Given the description of an element on the screen output the (x, y) to click on. 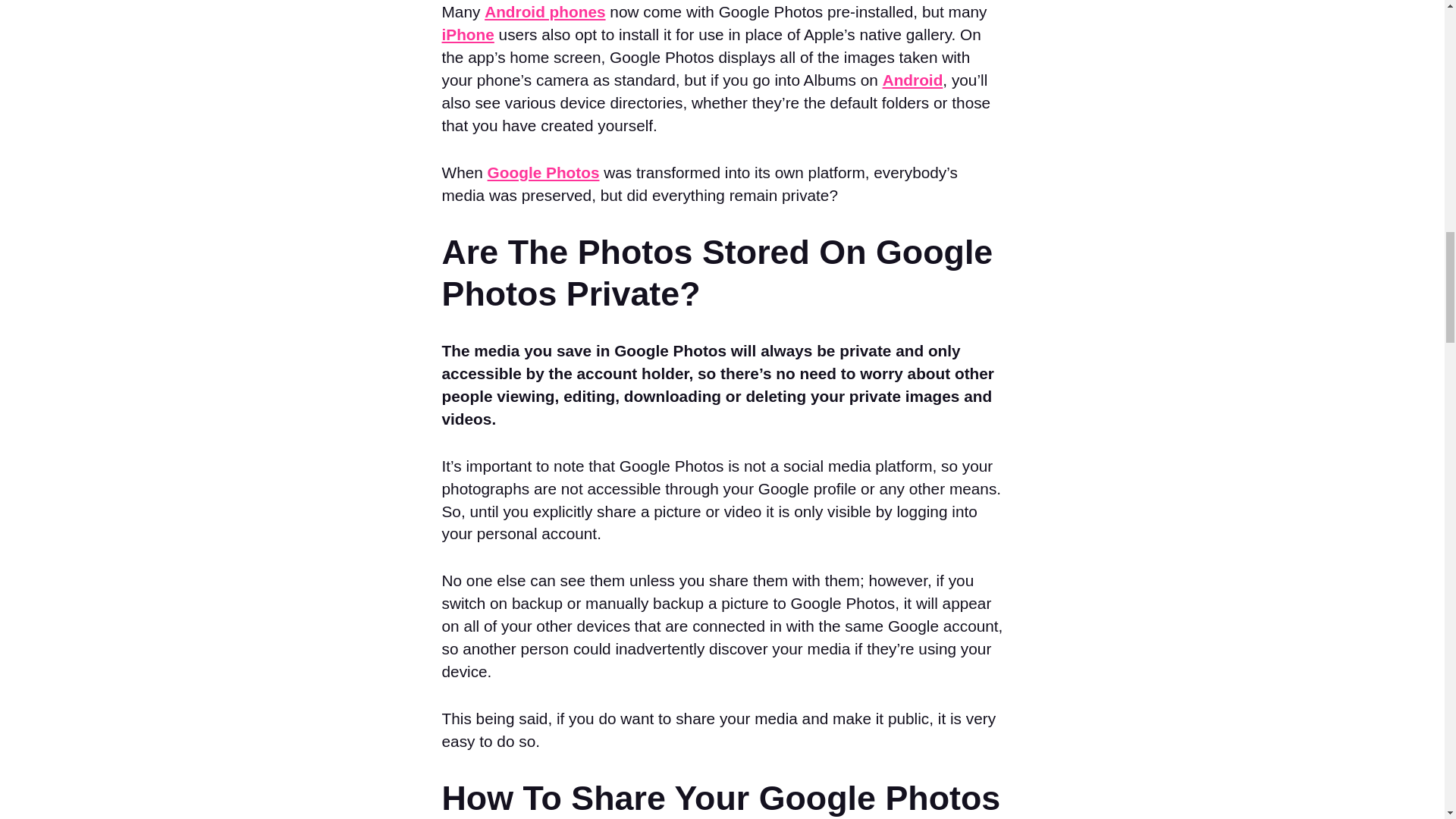
Google Photos (543, 171)
iPhone (467, 34)
Android phones (544, 11)
Android (912, 79)
